Given the description of an element on the screen output the (x, y) to click on. 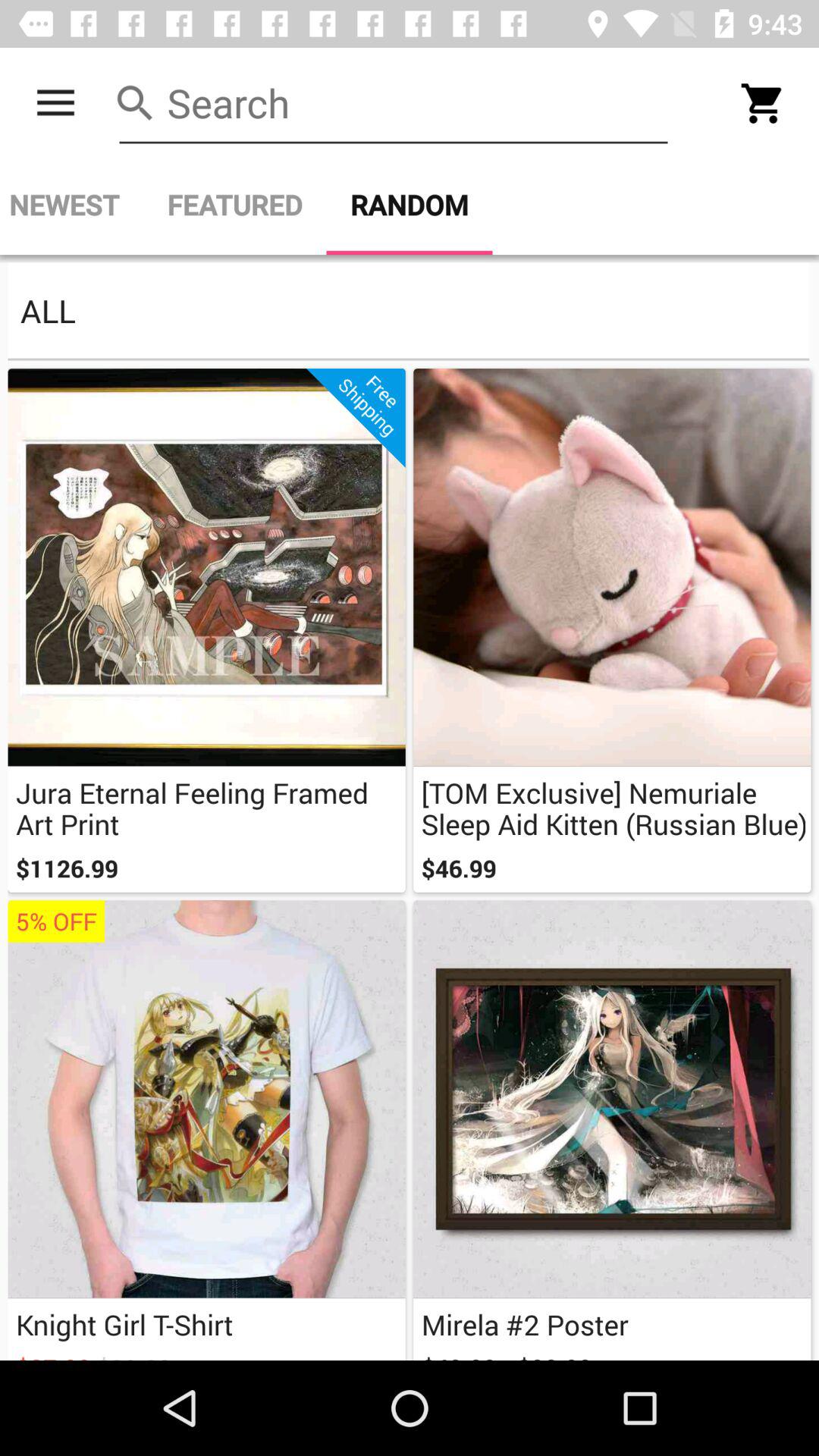
jump until the random (409, 204)
